Given the description of an element on the screen output the (x, y) to click on. 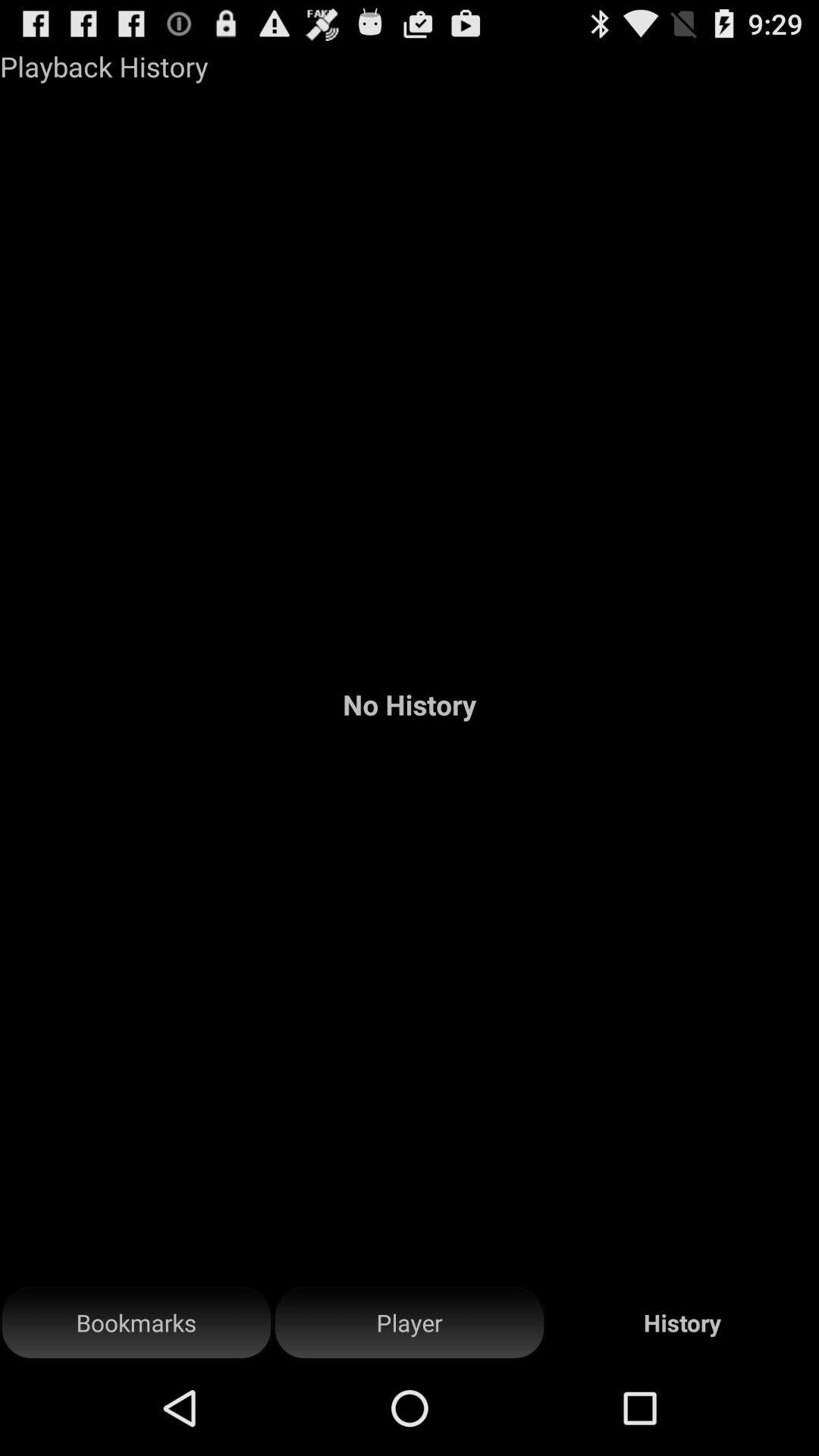
launch the item to the right of bookmarks icon (409, 1323)
